Given the description of an element on the screen output the (x, y) to click on. 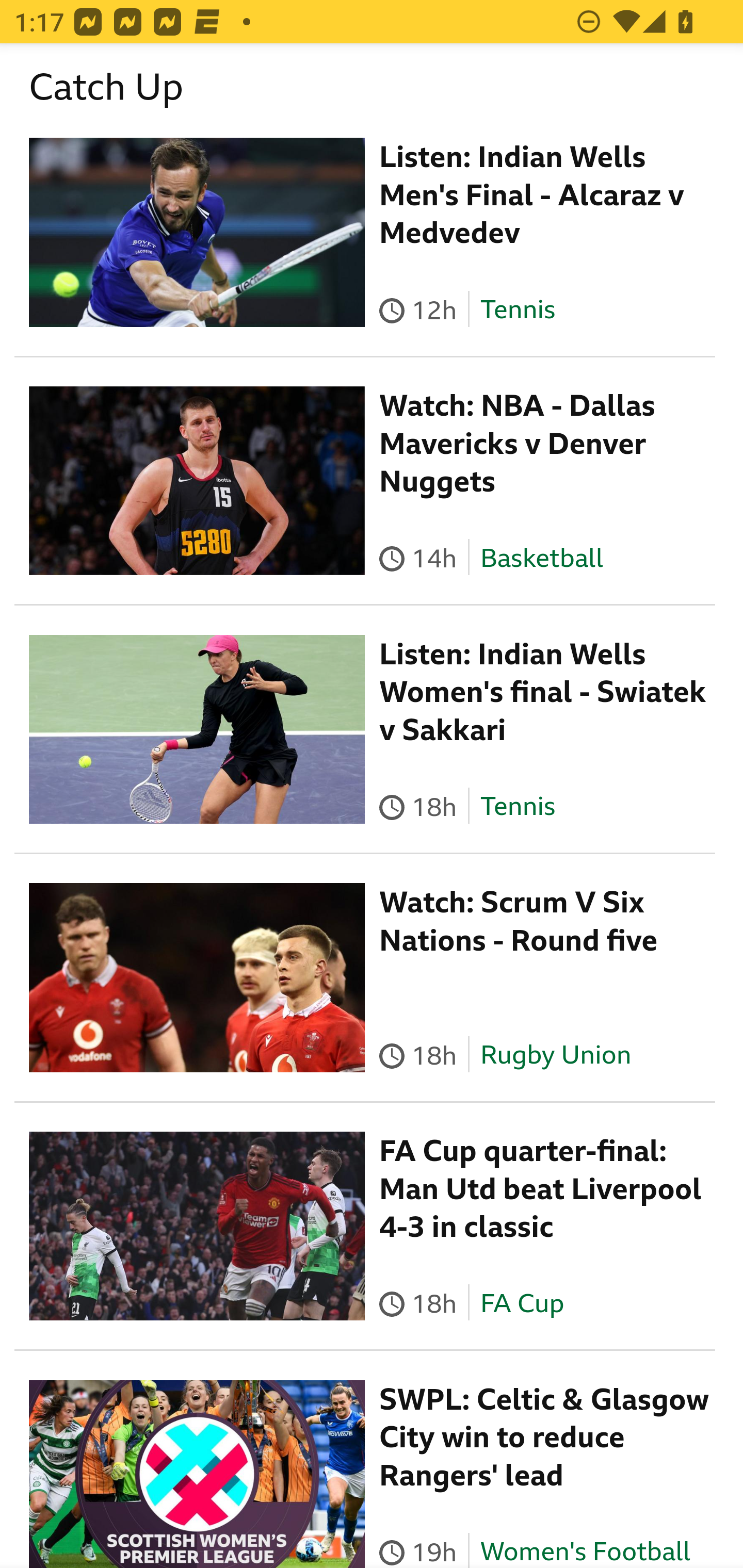
Tennis (517, 312)
Watch: NBA - Dallas Mavericks v Denver Nuggets (517, 445)
Basketball (541, 558)
Tennis (517, 807)
Watch: Scrum V Six Nations - Round five (518, 922)
Rugby Union (555, 1056)
FA Cup (521, 1304)
Women's Football (584, 1553)
